Given the description of an element on the screen output the (x, y) to click on. 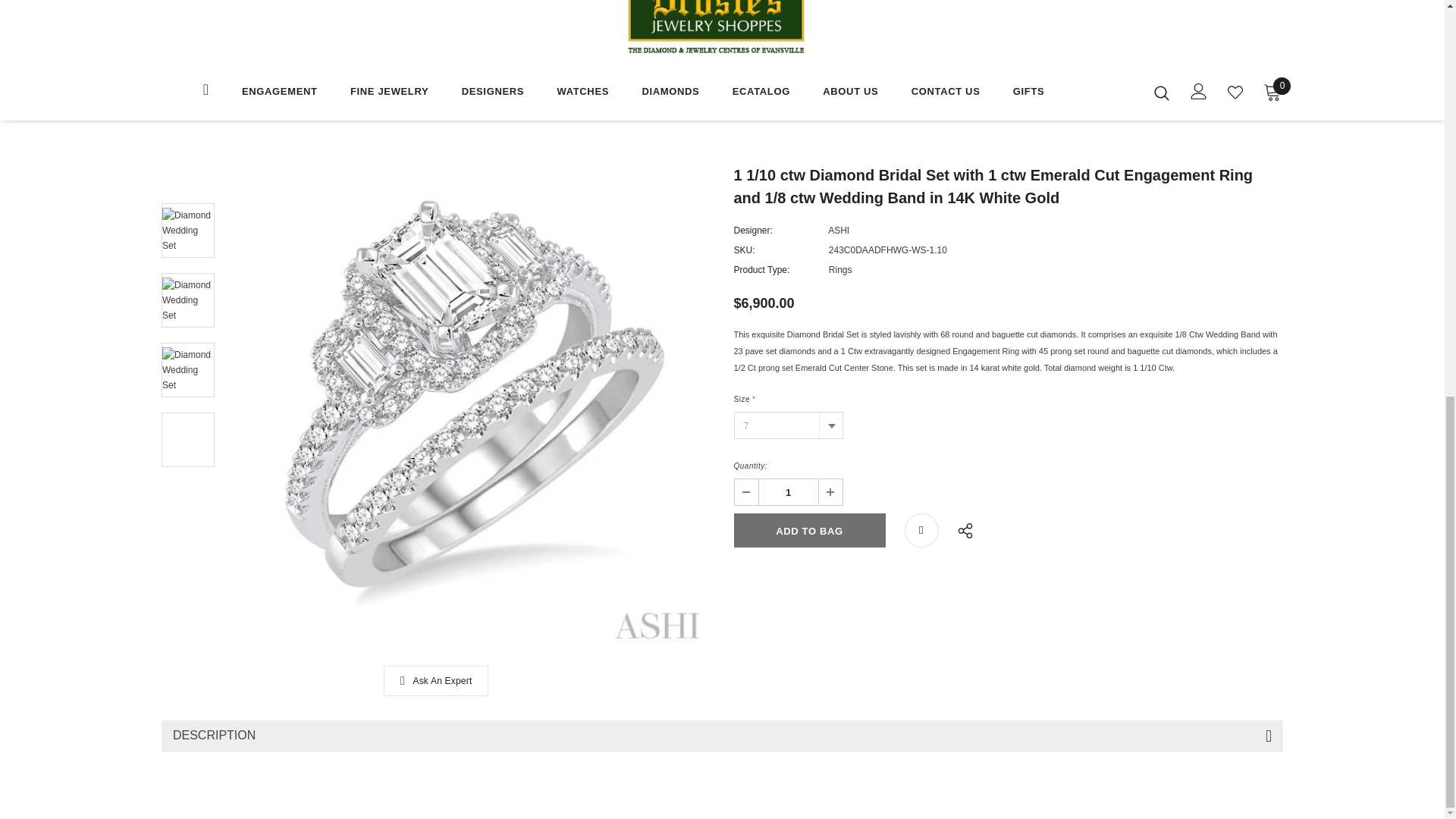
WATCHES (582, 93)
FINE JEWELRY (389, 93)
Droste's Jewelry Shoppes (716, 28)
ENGAGEMENT (279, 93)
Search (1161, 92)
DESIGNERS (492, 93)
Add to Bag (809, 530)
GIFTS (1029, 93)
DIAMONDS (670, 93)
1 (787, 492)
ABOUT US (849, 93)
ECATALOG (761, 93)
CONTACT US (945, 93)
